Given the description of an element on the screen output the (x, y) to click on. 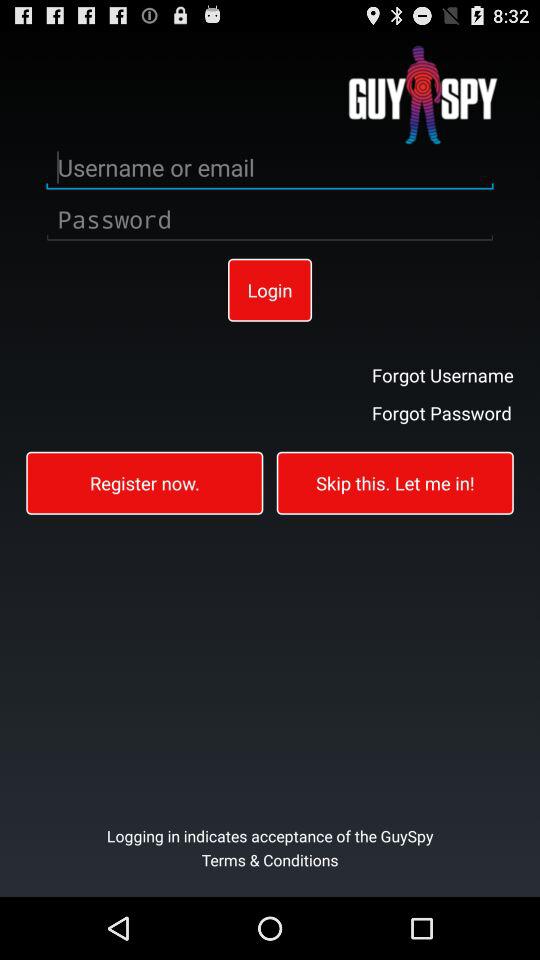
click the app above logging in indicates icon (144, 482)
